Given the description of an element on the screen output the (x, y) to click on. 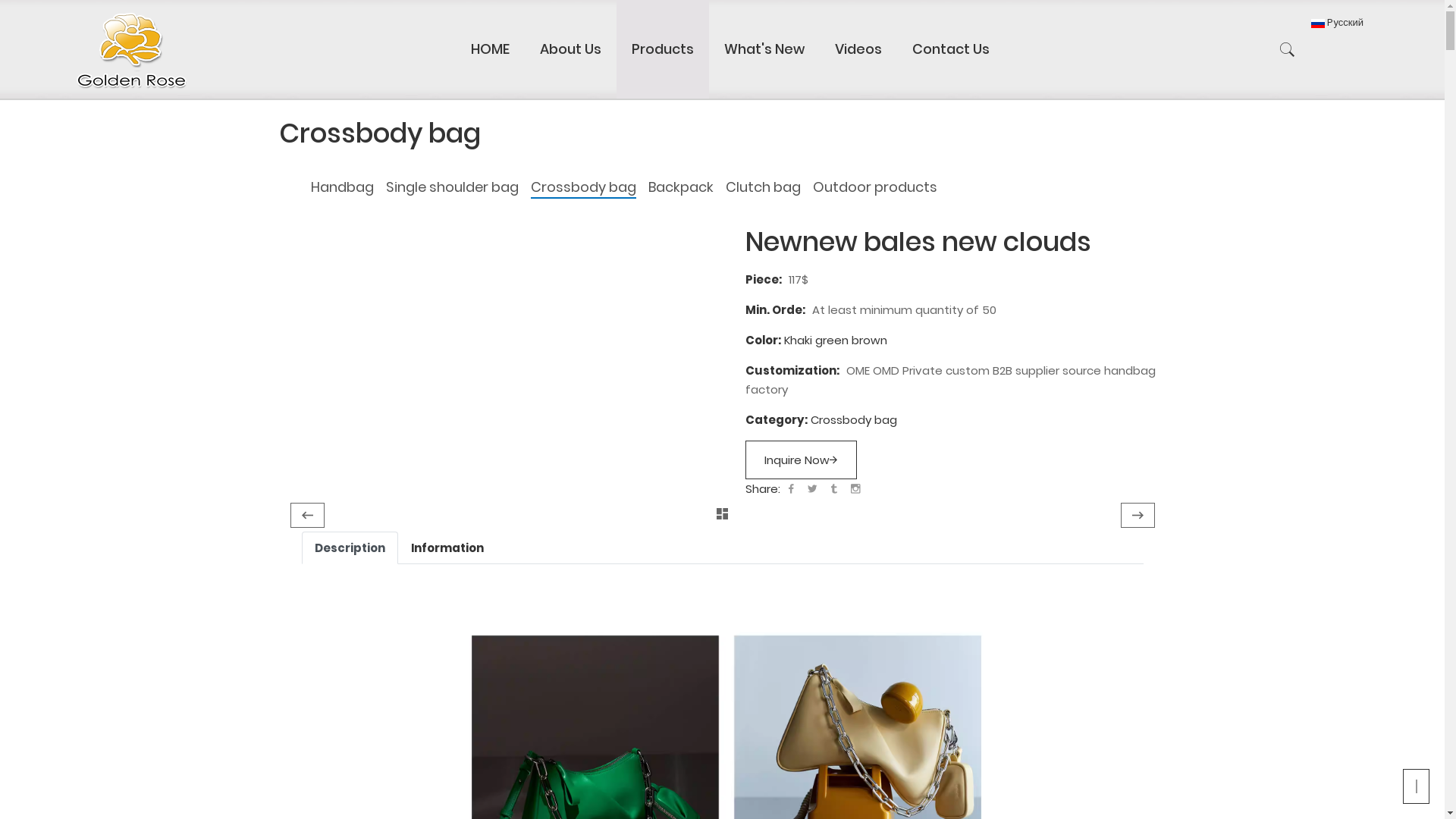
Crossbody bag Element type: text (583, 186)
Information Element type: text (446, 547)
About Us Element type: text (570, 49)
Backpack Element type: text (679, 186)
Outdoor products Element type: text (874, 186)
Contact Us Element type: text (950, 49)
Clutch bag Element type: text (762, 186)
Inquire Now Element type: text (800, 459)
Videos Element type: text (858, 49)
Description Element type: text (349, 547)
Single shoulder bag Element type: text (451, 186)
Louis vuitton bucket handbags Element type: hover (306, 514)
What's New Element type: text (764, 49)
Handbag Element type: text (341, 186)
Products Element type: text (662, 49)
HOME Element type: text (489, 49)
